Given the description of an element on the screen output the (x, y) to click on. 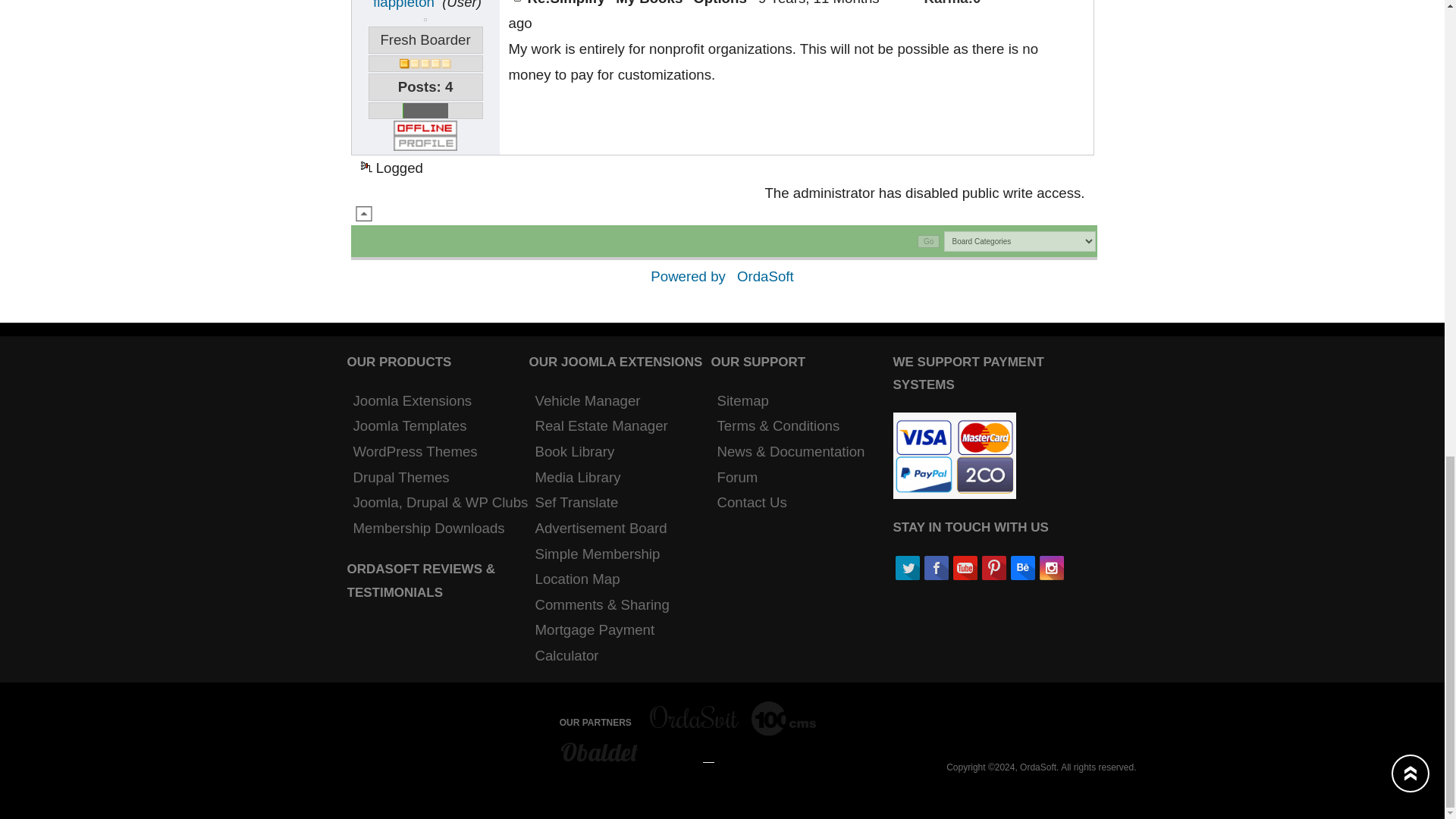
Go (928, 241)
